Given the description of an element on the screen output the (x, y) to click on. 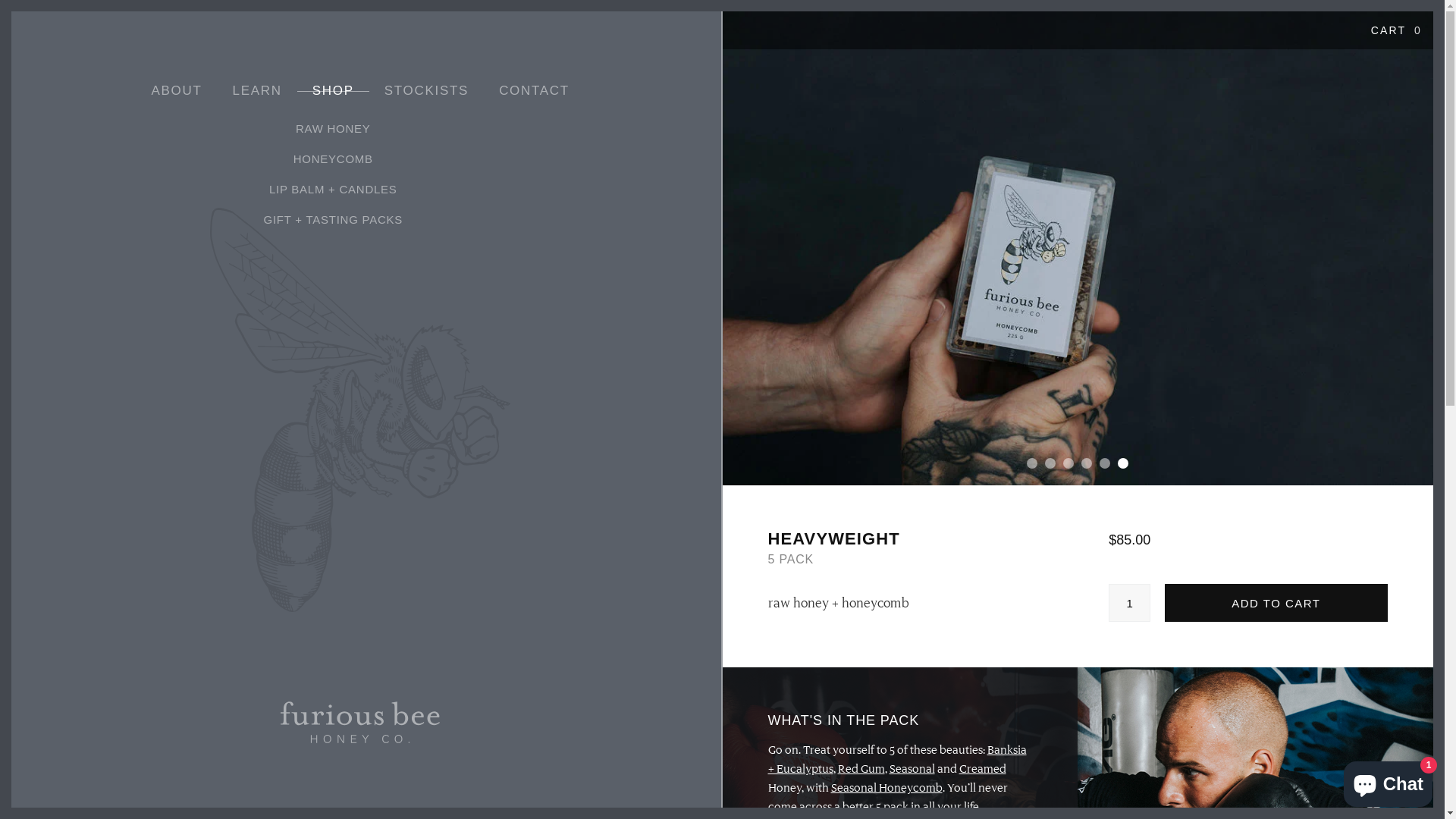
Creamed Element type: text (981, 768)
GIFT + TASTING PACKS Element type: text (332, 219)
SHOP Element type: text (333, 90)
Add to Cart Element type: text (1275, 602)
Furious Bee Honey Co Element type: hover (359, 722)
HONEYCOMB Element type: text (332, 159)
ABOUT Element type: text (176, 90)
CART 0 Element type: text (1396, 30)
Banksia + Eucalyptus Element type: text (896, 759)
CONTACT Element type: text (533, 90)
Seasonal Honeycomb Element type: text (886, 787)
RAW HONEY Element type: text (332, 128)
Red Gum Element type: text (860, 768)
Seasonal Element type: text (911, 768)
Shopify online store chat Element type: hover (1388, 780)
STOCKISTS Element type: text (426, 90)
LEARN Element type: text (257, 90)
LIP BALM + CANDLES Element type: text (332, 189)
